Given the description of an element on the screen output the (x, y) to click on. 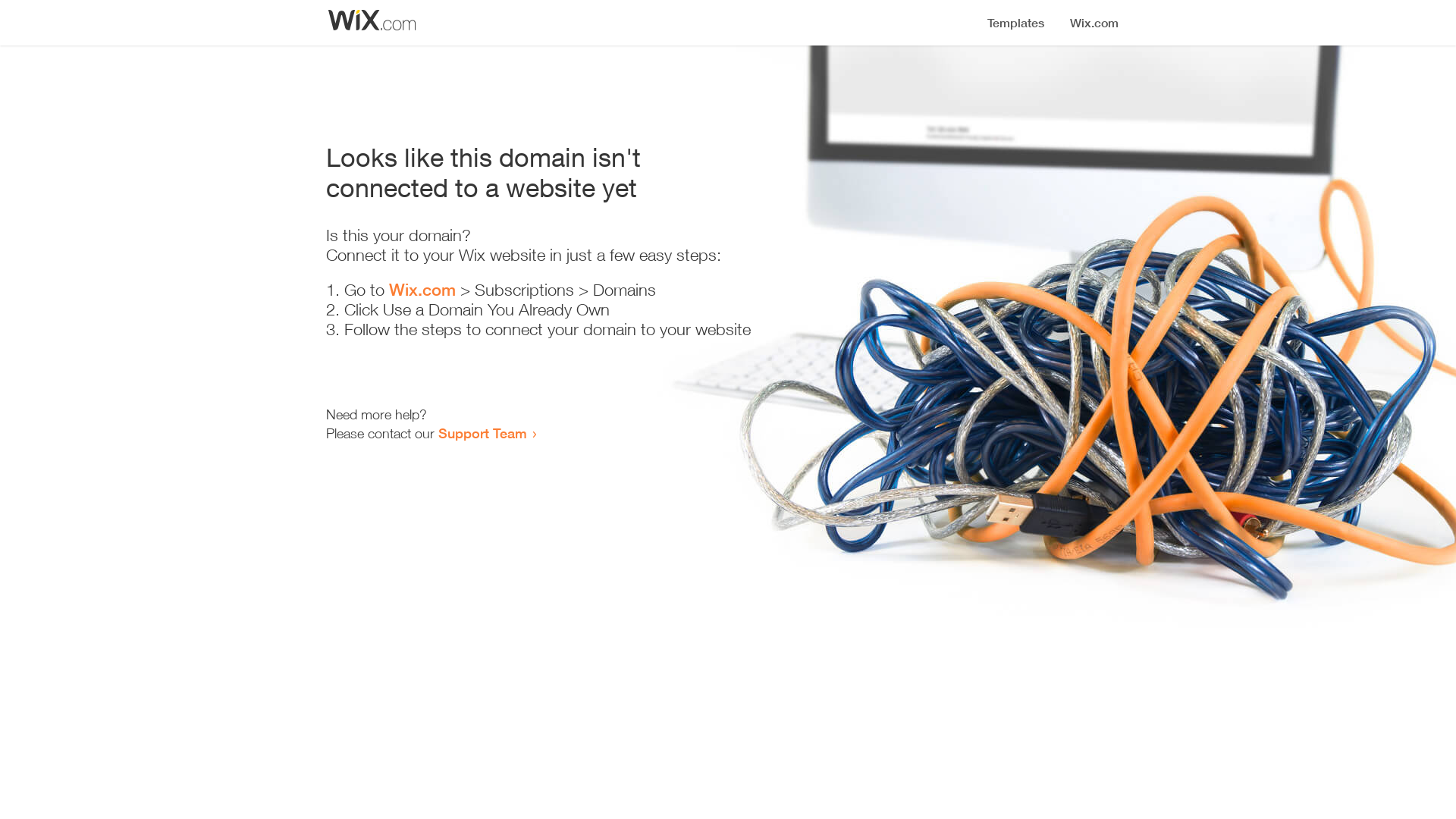
Support Team Element type: text (482, 432)
Wix.com Element type: text (422, 289)
